Given the description of an element on the screen output the (x, y) to click on. 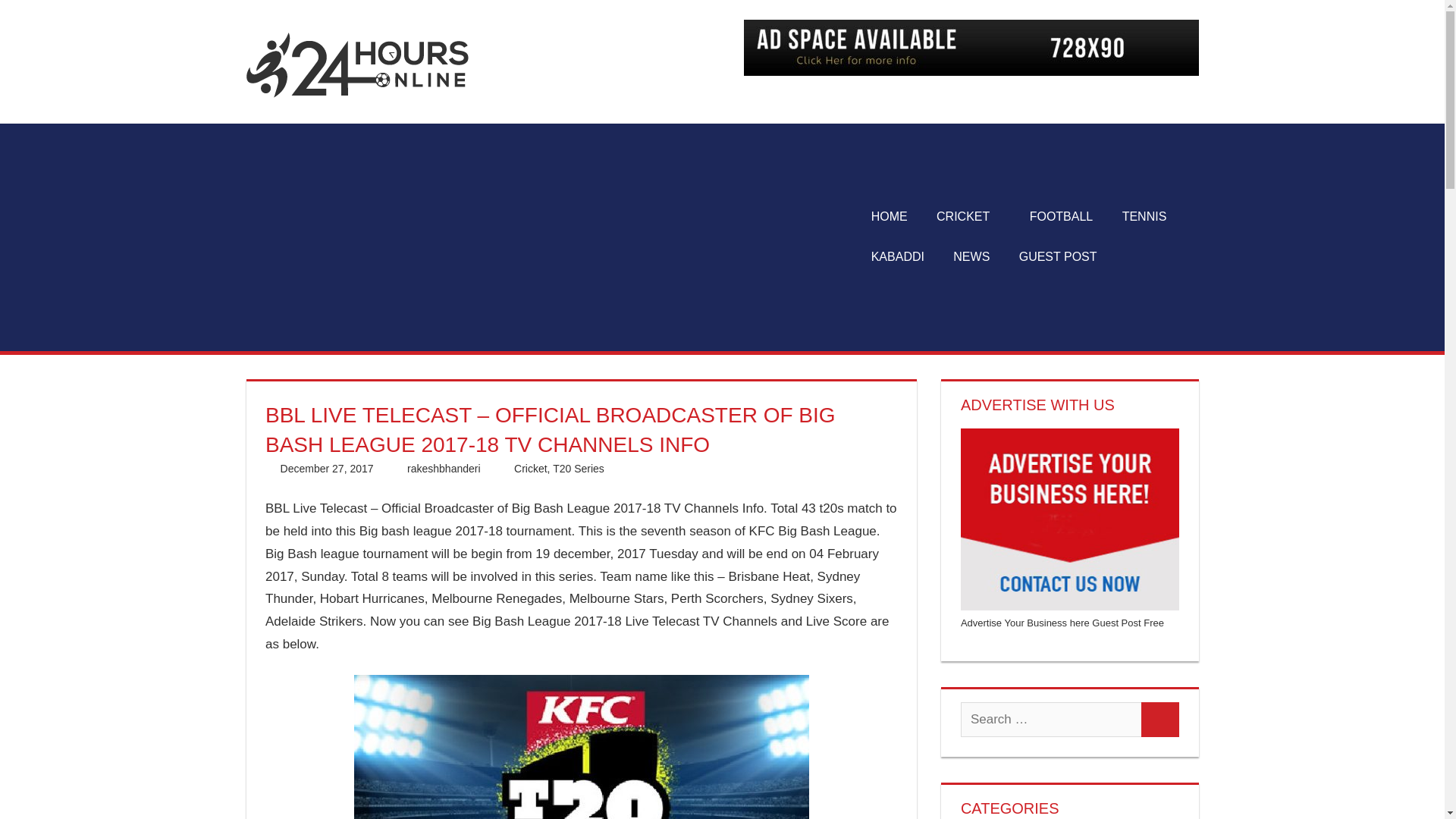
FOOTBALL (1060, 216)
Cricket (530, 468)
December 27, 2017 (327, 468)
HOME (889, 216)
GUEST POST (1057, 256)
CRICKET (967, 216)
KABADDI (898, 256)
T20 Series (578, 468)
Advertisement (551, 236)
11:51 am (327, 468)
rakeshbhanderi (443, 468)
NEWS (971, 256)
Search for: (1050, 719)
TENNIS (1143, 216)
View all posts by rakeshbhanderi (443, 468)
